Given the description of an element on the screen output the (x, y) to click on. 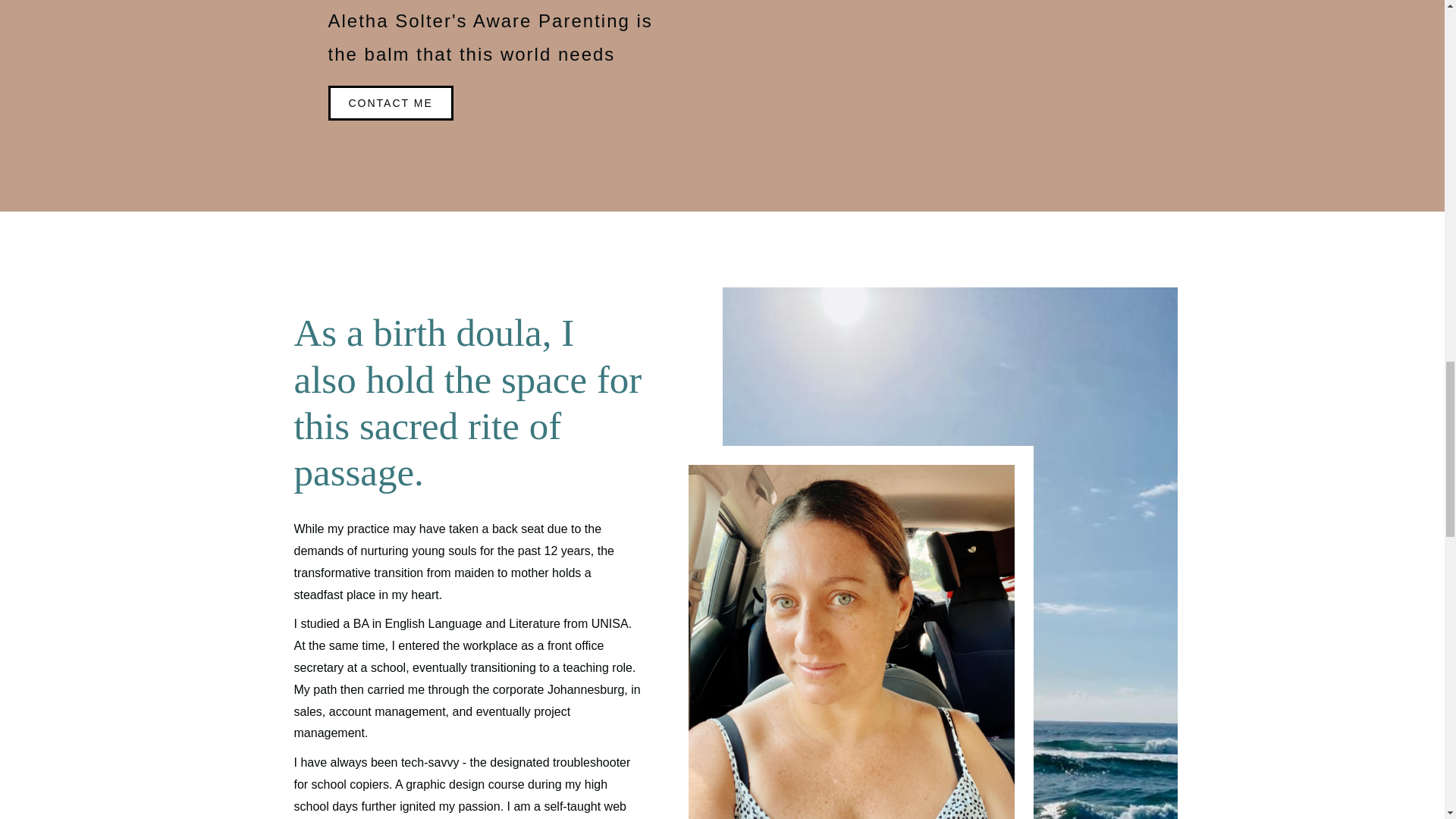
CONTACT ME (389, 103)
